Given the description of an element on the screen output the (x, y) to click on. 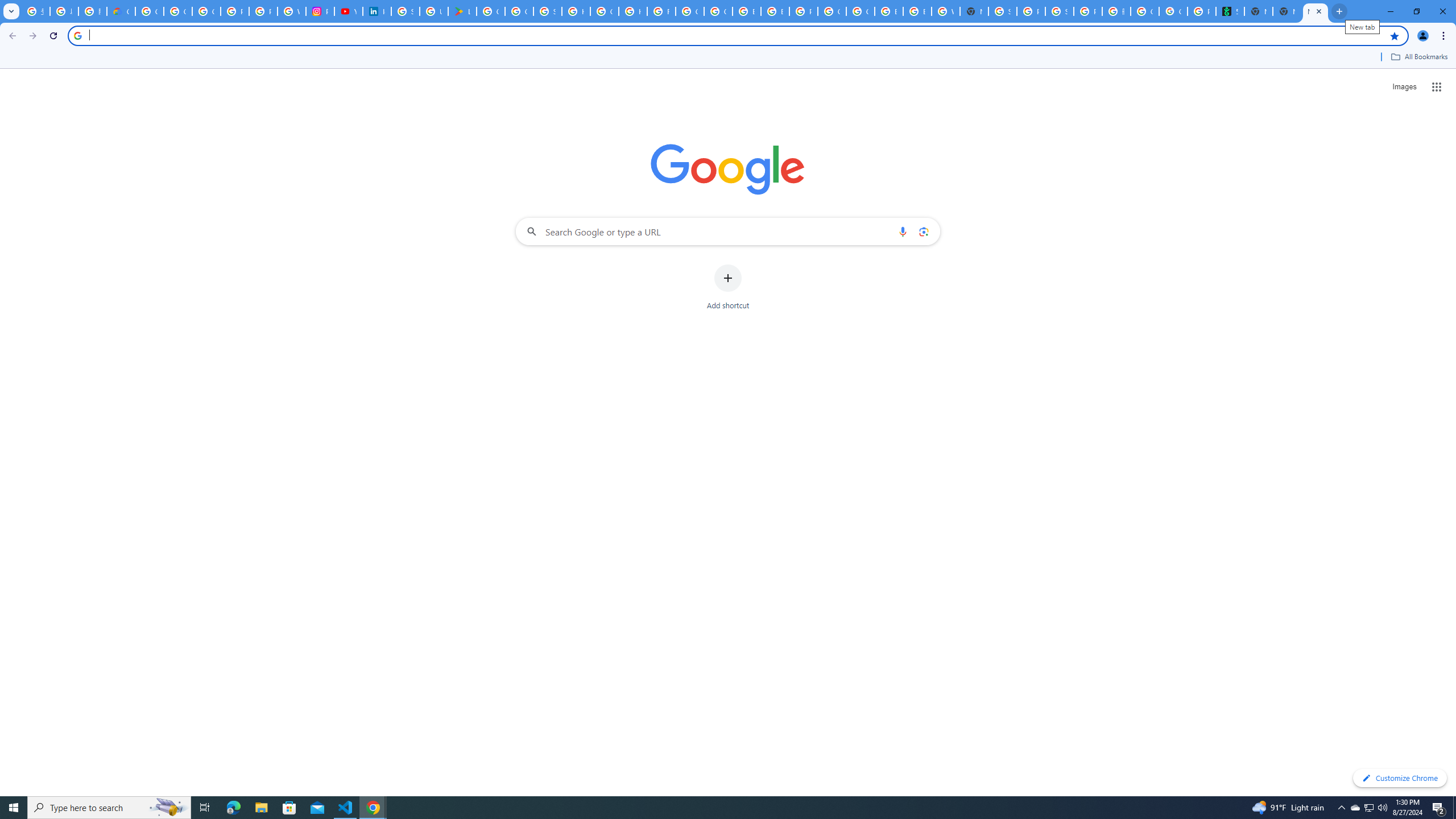
Google Cloud Platform (831, 11)
Google Cloud Platform (860, 11)
